Given the description of an element on the screen output the (x, y) to click on. 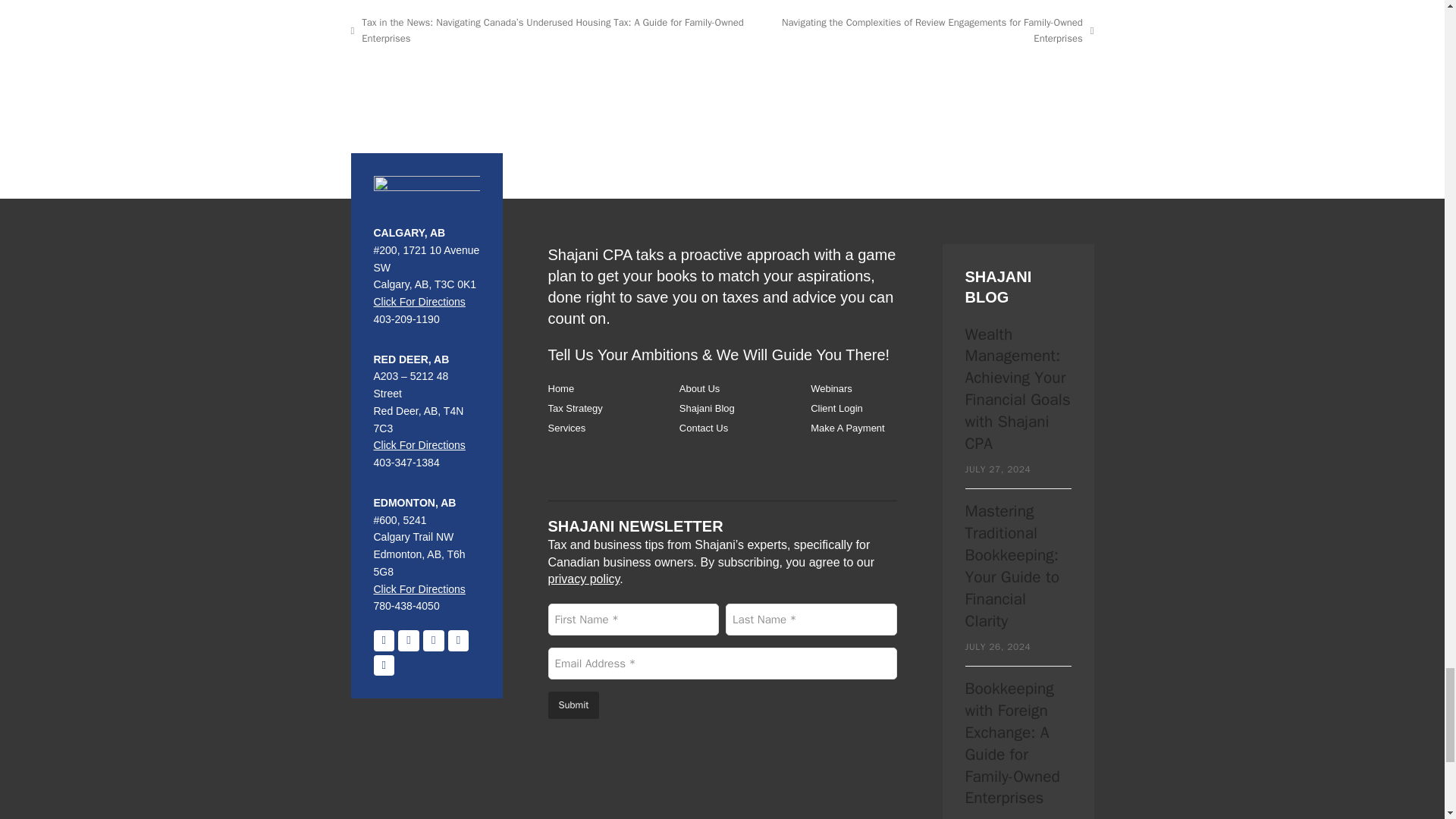
Submit (572, 704)
Youtube (458, 640)
Twitter (433, 640)
Facebook (383, 640)
LinkedIn (408, 640)
